Given the description of an element on the screen output the (x, y) to click on. 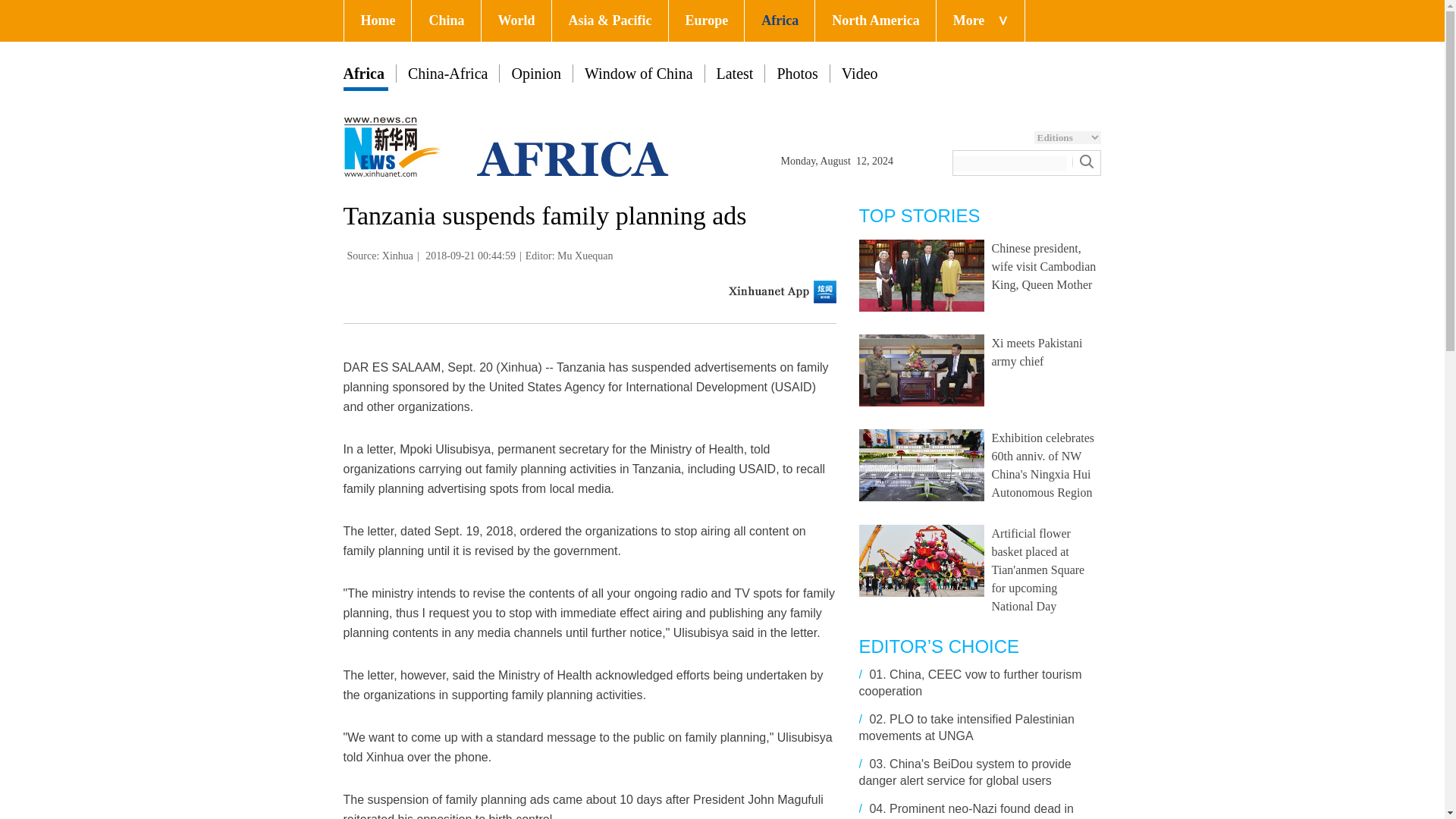
Photos (796, 73)
China-Africa (447, 73)
China (446, 20)
Europe (706, 20)
Video (859, 73)
Africa (778, 20)
World (516, 20)
Opinion (535, 73)
Window of China (639, 73)
Home (377, 20)
